Given the description of an element on the screen output the (x, y) to click on. 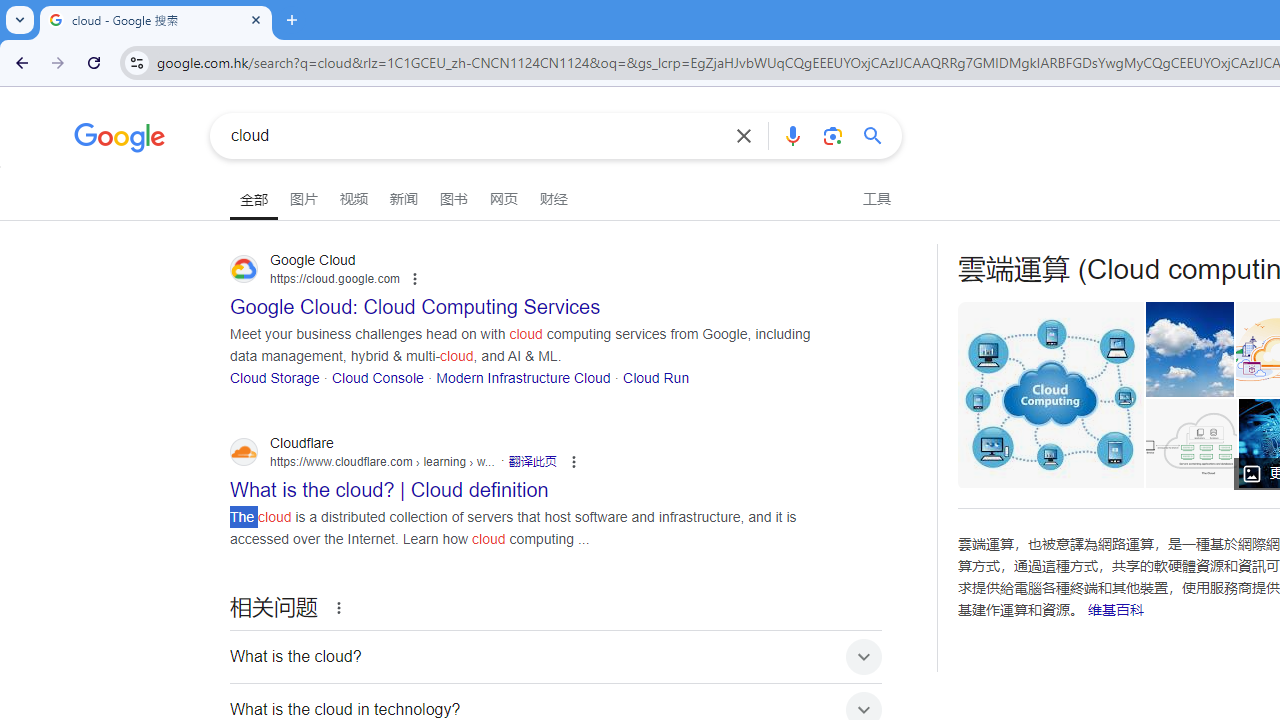
Cloud Storage (275, 376)
What is the cloud? | Cloud definition | Cloudflare (1196, 443)
What is the cloud? | Cloud definition | Cloudflare (1190, 443)
